Given the description of an element on the screen output the (x, y) to click on. 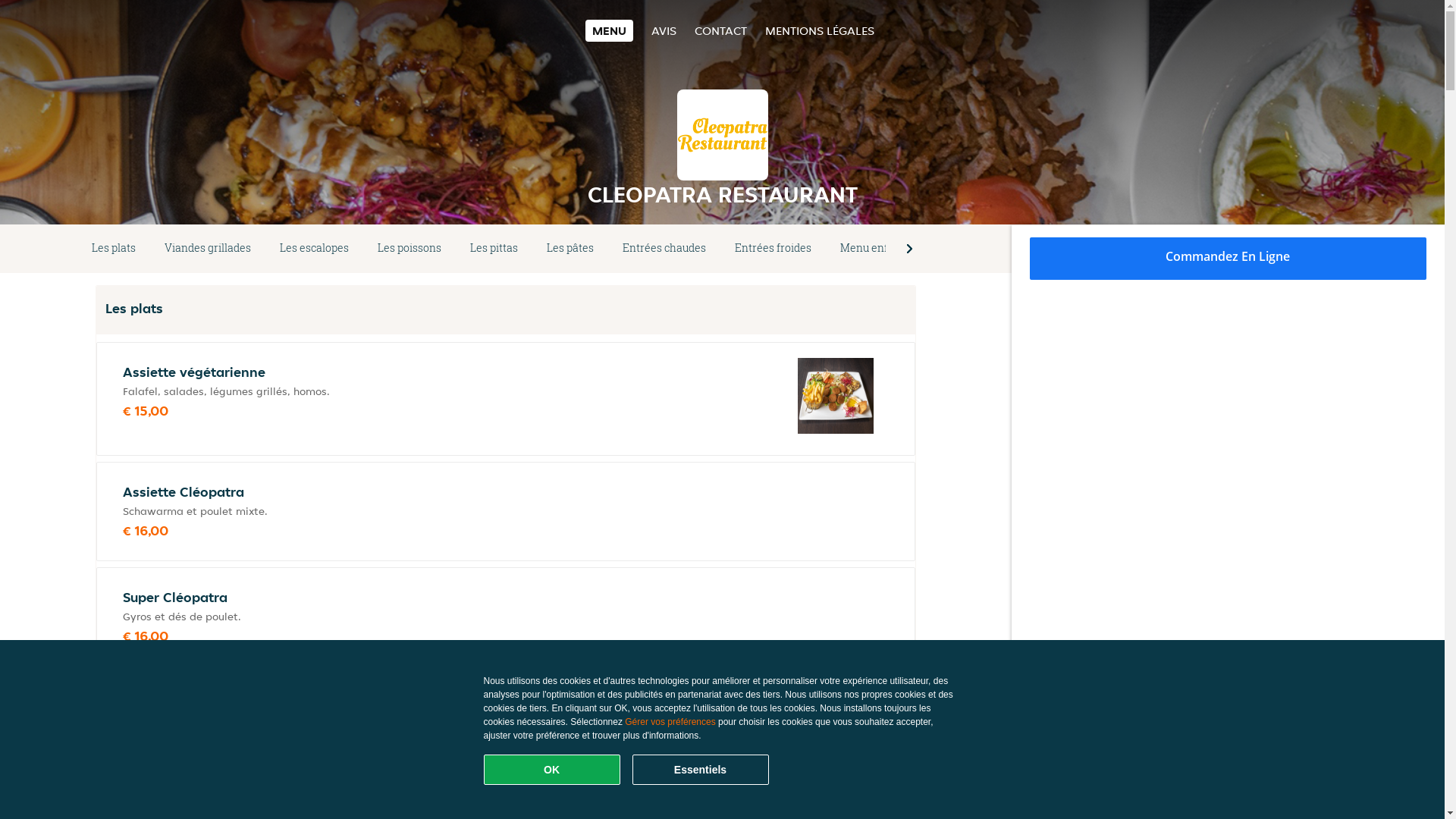
Les pittas Element type: text (493, 248)
AVIS Element type: text (663, 30)
Les poissons Element type: text (409, 248)
CONTACT Element type: text (720, 30)
Menu enfant Element type: text (872, 248)
Viandes grillades Element type: text (207, 248)
Les escalopes Element type: text (314, 248)
MENU Element type: text (609, 30)
Les plats Element type: text (113, 248)
Commandez En Ligne Element type: text (1228, 258)
OK Element type: text (551, 769)
Essentiels Element type: text (700, 769)
